Given the description of an element on the screen output the (x, y) to click on. 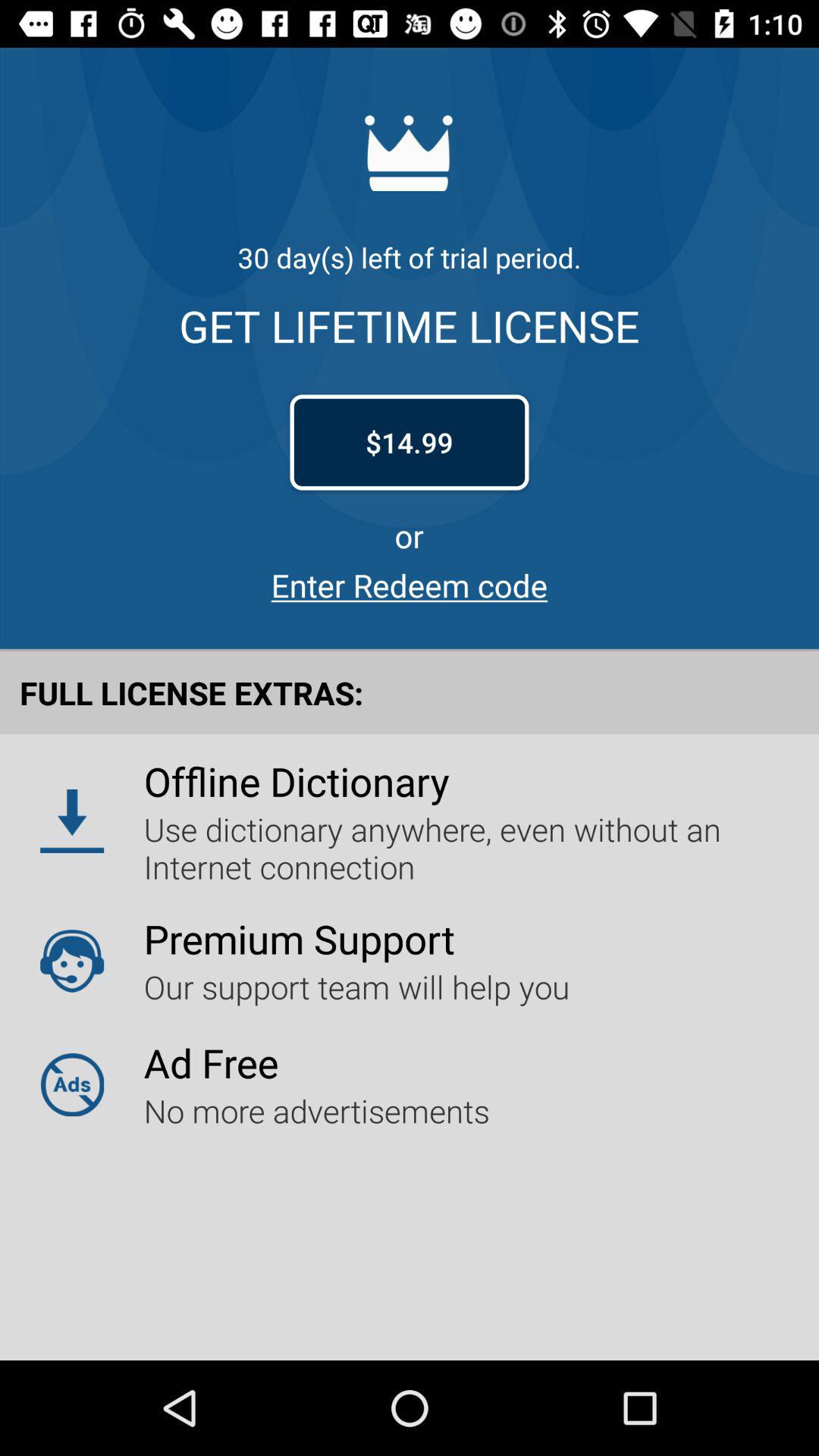
select enter redeem code (409, 584)
